Given the description of an element on the screen output the (x, y) to click on. 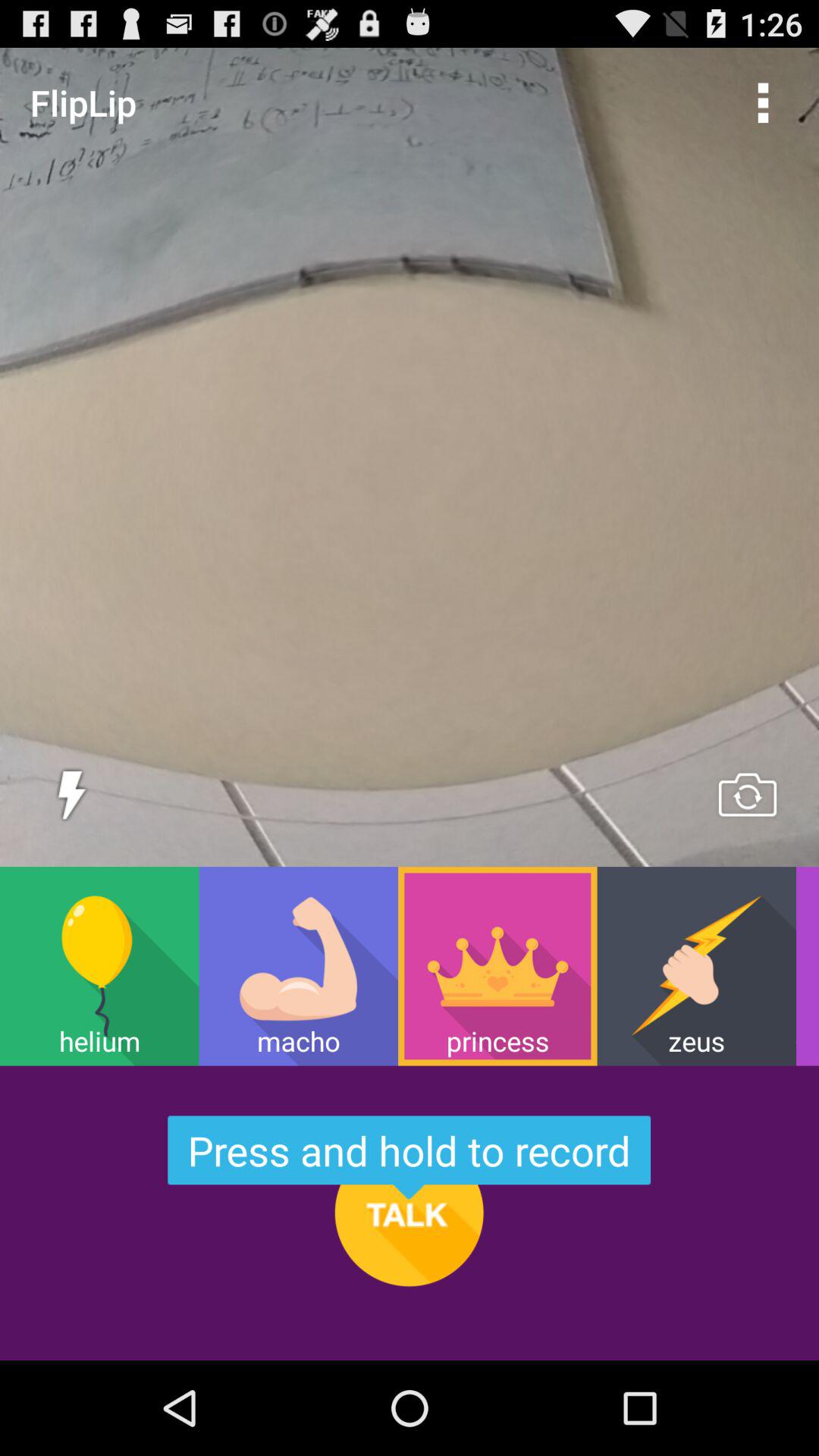
tap icon to the left of princess icon (298, 965)
